Given the description of an element on the screen output the (x, y) to click on. 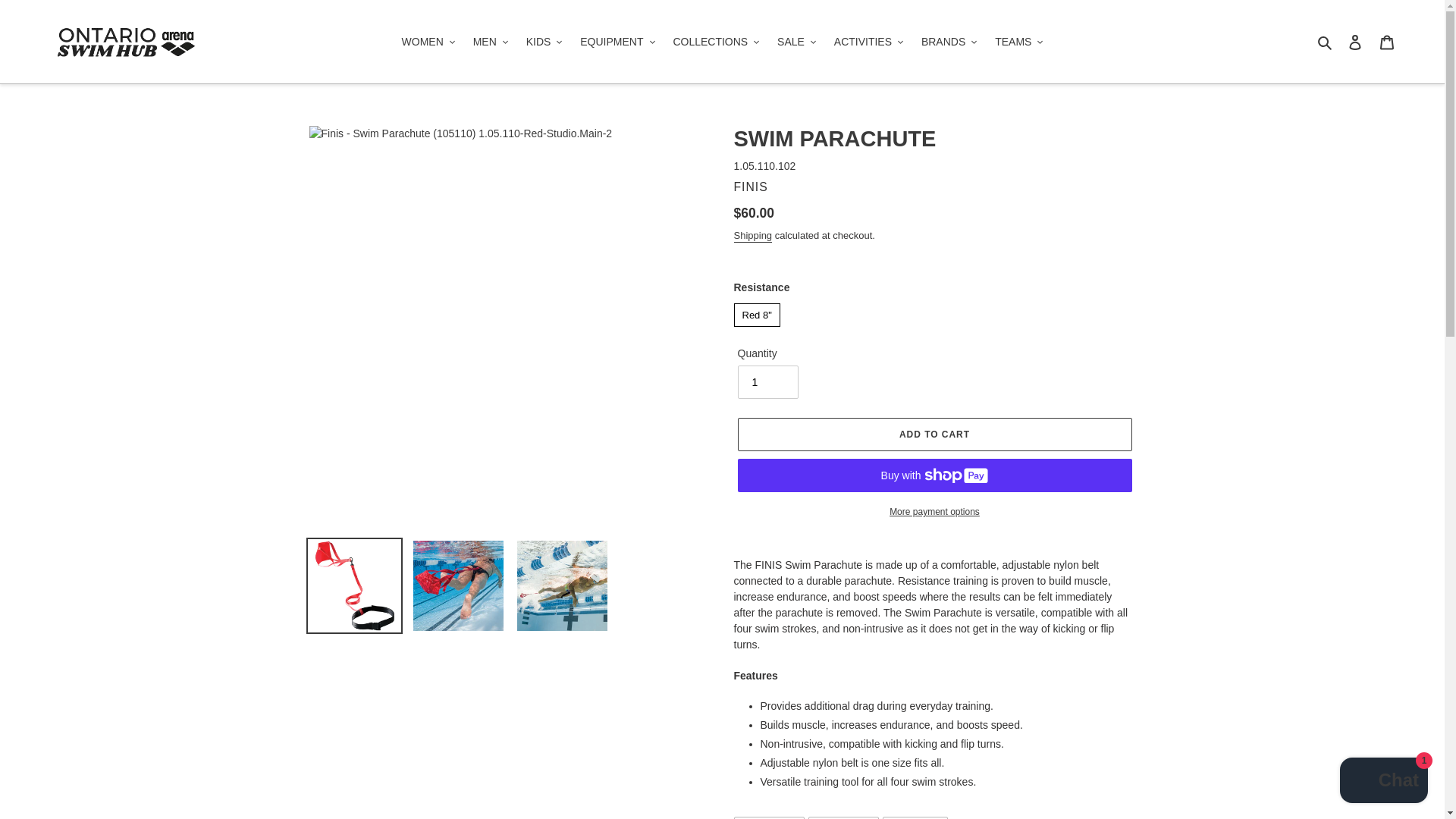
MEN (490, 41)
WOMEN (428, 41)
1 (766, 381)
Shopify online store chat (1383, 781)
Red 8 (756, 315)
